Given the description of an element on the screen output the (x, y) to click on. 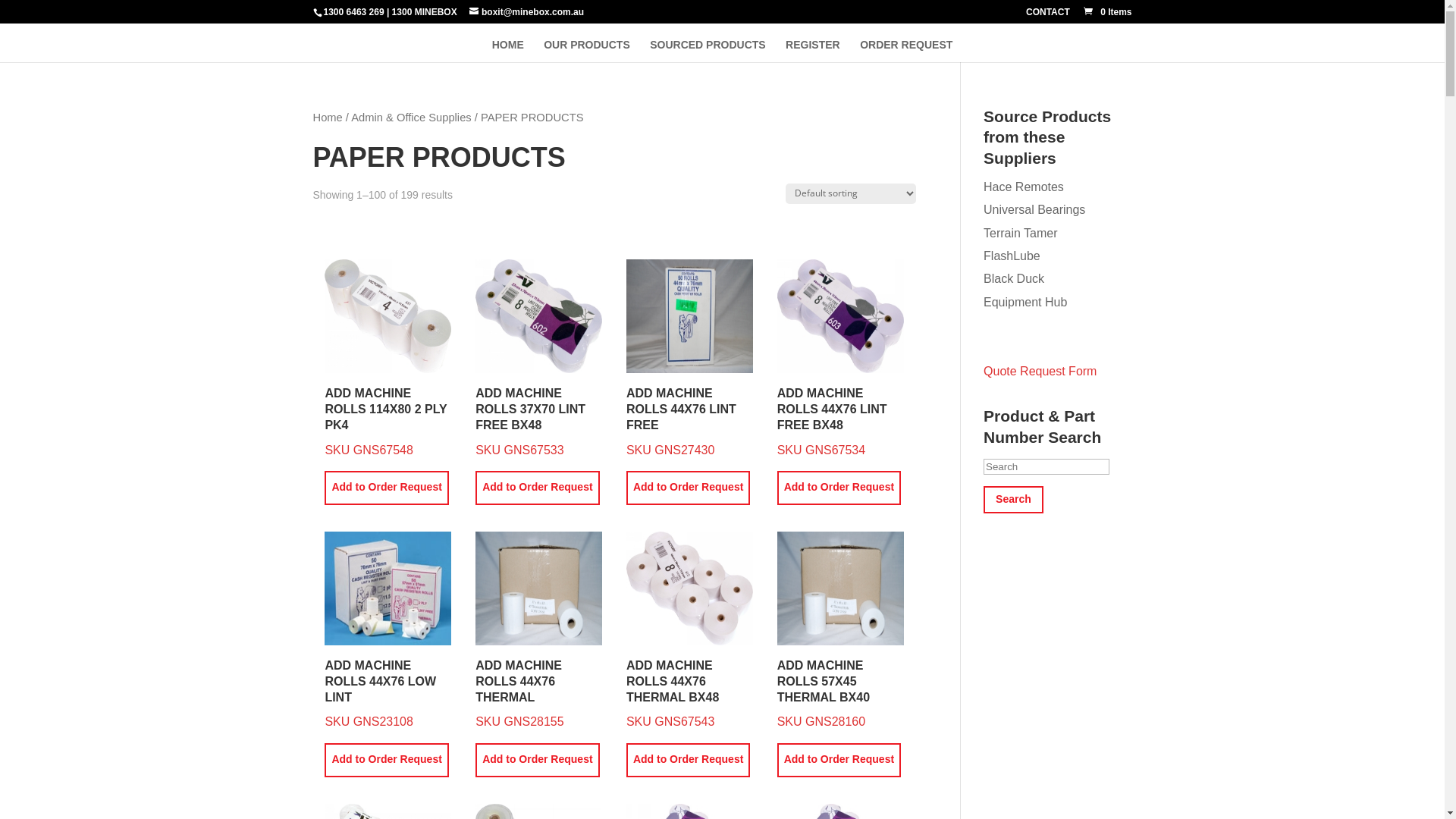
Admin & Office Supplies Element type: text (410, 117)
Add to Order Request Element type: text (838, 487)
medium_67534 Element type: hover (840, 316)
Universal Bearings Element type: text (1034, 209)
HOME Element type: text (508, 50)
ADD MACHINE ROLLS 44X76 LOW LINT
SKU GNS23108 Element type: text (387, 629)
Terrain Tamer Element type: text (1020, 232)
ADD MACHINE ROLLS 44X76 THERMAL BX48
SKU GNS67543 Element type: text (689, 629)
boxit@minebox.com.au Element type: text (526, 11)
medium_67533 Element type: hover (538, 316)
medium_23108 Element type: hover (387, 588)
medium_28160 Element type: hover (840, 588)
Black Duck Element type: text (1013, 278)
OUR PRODUCTS Element type: text (586, 50)
CONTACT Element type: text (1048, 15)
Add to Order Request Element type: text (537, 760)
Search Element type: text (1013, 499)
ORDER REQUEST Element type: text (905, 50)
ADD MACHINE ROLLS 57X45 THERMAL BX40
SKU GNS28160 Element type: text (840, 629)
ADD MACHINE ROLLS 37X70 LINT FREE BX48
SKU GNS67533 Element type: text (538, 357)
0 Items Element type: text (1106, 11)
medium_28155 Element type: hover (538, 588)
ADD MACHINE ROLLS 44X76 LINT FREE
SKU GNS27430 Element type: text (689, 357)
Hace Remotes Element type: text (1023, 186)
REGISTER Element type: text (812, 50)
ADD MACHINE ROLLS 114X80 2 PLY PK4
SKU GNS67548 Element type: text (387, 357)
ADD MACHINE ROLLS 44X76 LINT FREE BX48
SKU GNS67534 Element type: text (840, 357)
SOURCED PRODUCTS Element type: text (707, 50)
FlashLube Element type: text (1011, 255)
Home Element type: text (327, 117)
ADD MACHINE ROLLS 44X76 THERMAL
SKU GNS28155 Element type: text (538, 629)
Add to Order Request Element type: text (838, 760)
medium_27430 Element type: hover (689, 316)
Quote Request Form Element type: text (1039, 370)
medium_67548 Element type: hover (387, 316)
Add to Order Request Element type: text (386, 487)
Add to Order Request Element type: text (687, 487)
Equipment Hub Element type: text (1024, 301)
Add to Order Request Element type: text (537, 487)
Add to Order Request Element type: text (687, 760)
Add to Order Request Element type: text (386, 760)
medium_67543 Element type: hover (689, 588)
